Given the description of an element on the screen output the (x, y) to click on. 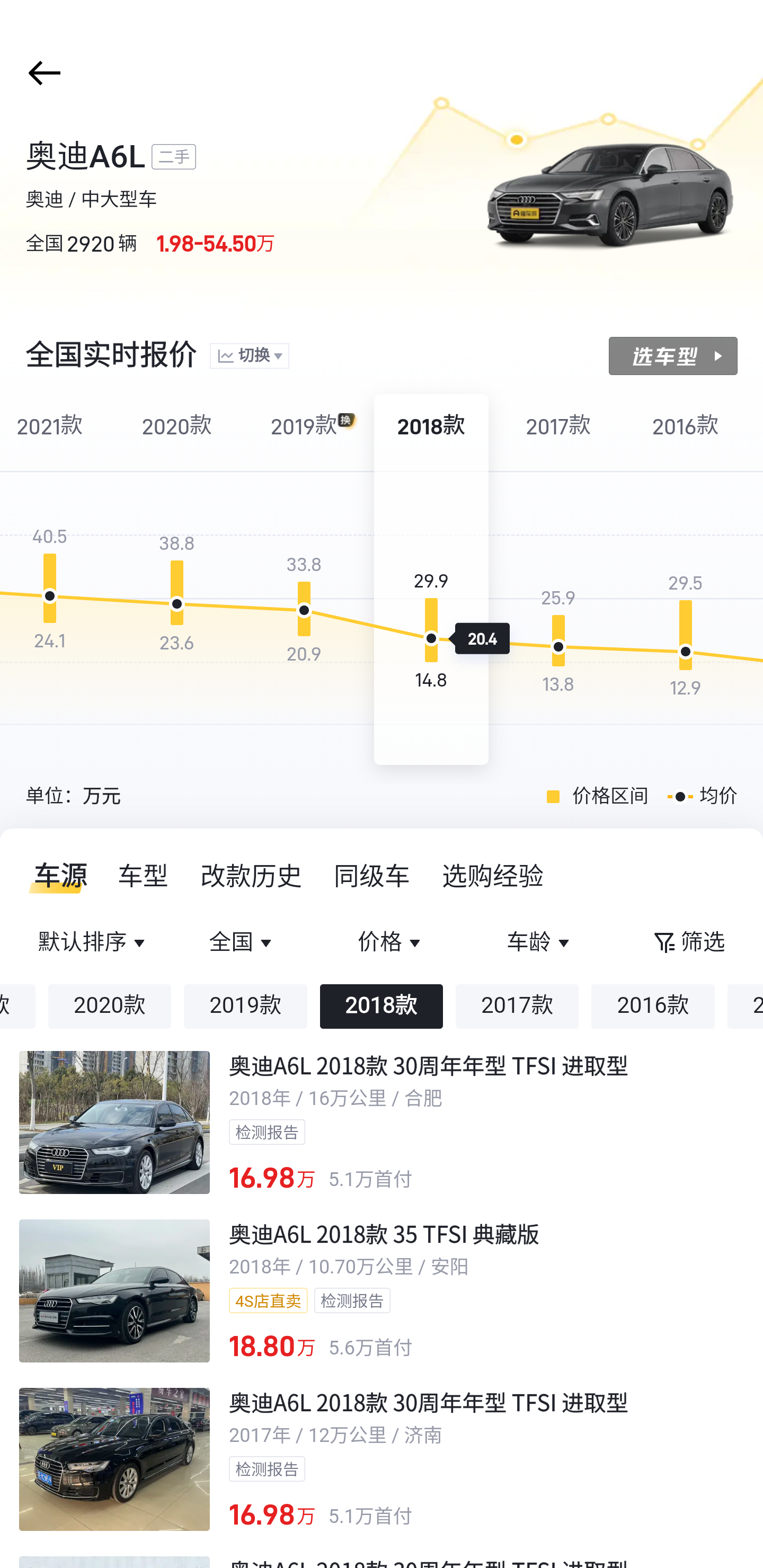
 (41, 72)
切换 (249, 356)
2021款 40.5 24.1 (54, 579)
2020款 38.8 23.6 (177, 579)
2019 款 33.8 20.9 (304, 579)
2018款 29.9 14.8 (431, 579)
2017款 25.9 13.8 (558, 579)
2016款 29.5 12.9 (685, 579)
车源 (55, 875)
车型 (143, 876)
改款历史 (251, 876)
同级车 (372, 876)
选购经验 (492, 876)
默认排序 (93, 943)
全国 (242, 943)
价格 (390, 943)
车龄 (538, 943)
筛选 (688, 943)
2020款 (109, 1006)
2019款 (245, 1006)
2018款 (381, 1006)
2017款 (516, 1006)
2016款 (653, 1006)
